Given the description of an element on the screen output the (x, y) to click on. 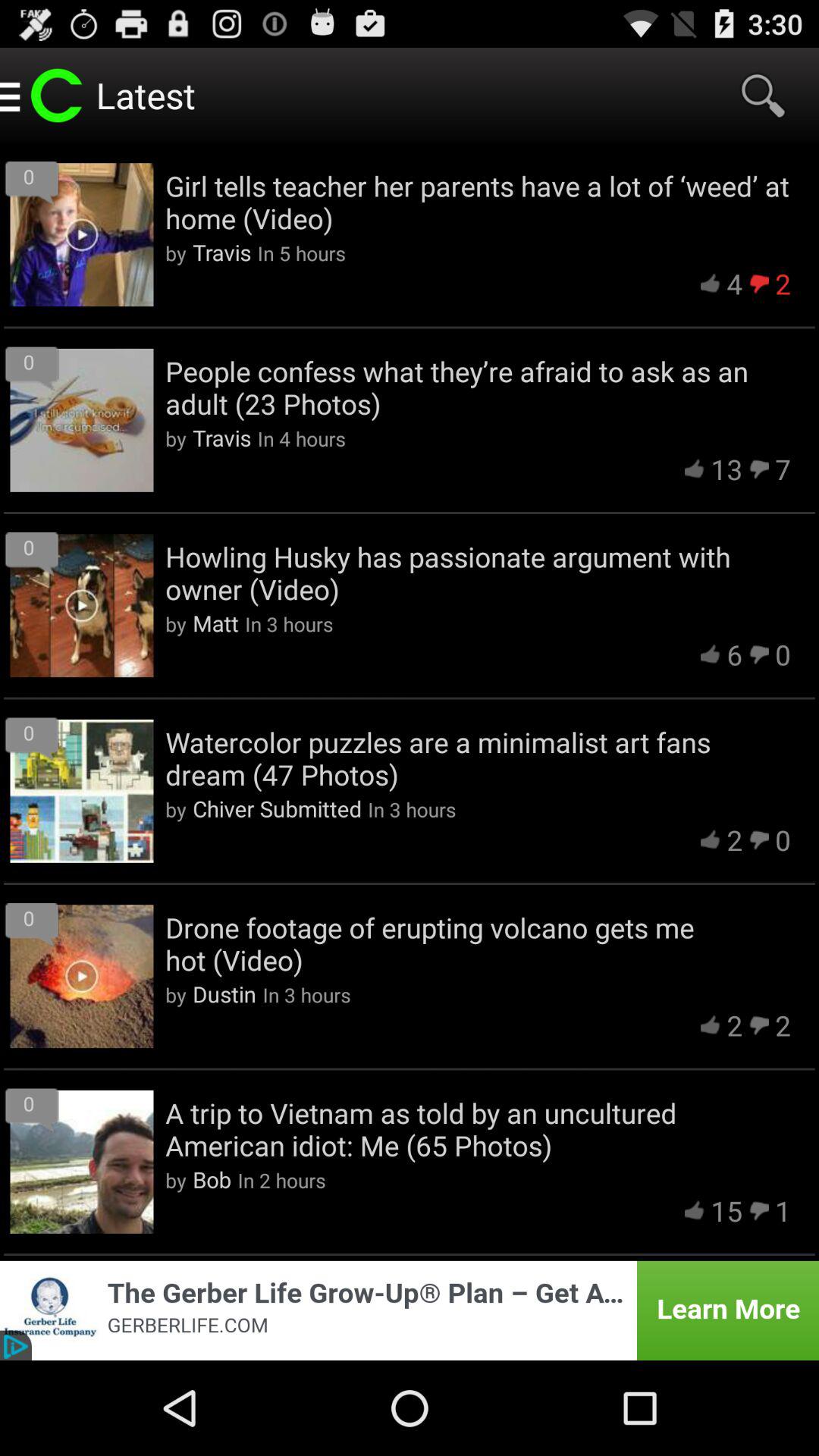
swipe until the 13 app (726, 468)
